Given the description of an element on the screen output the (x, y) to click on. 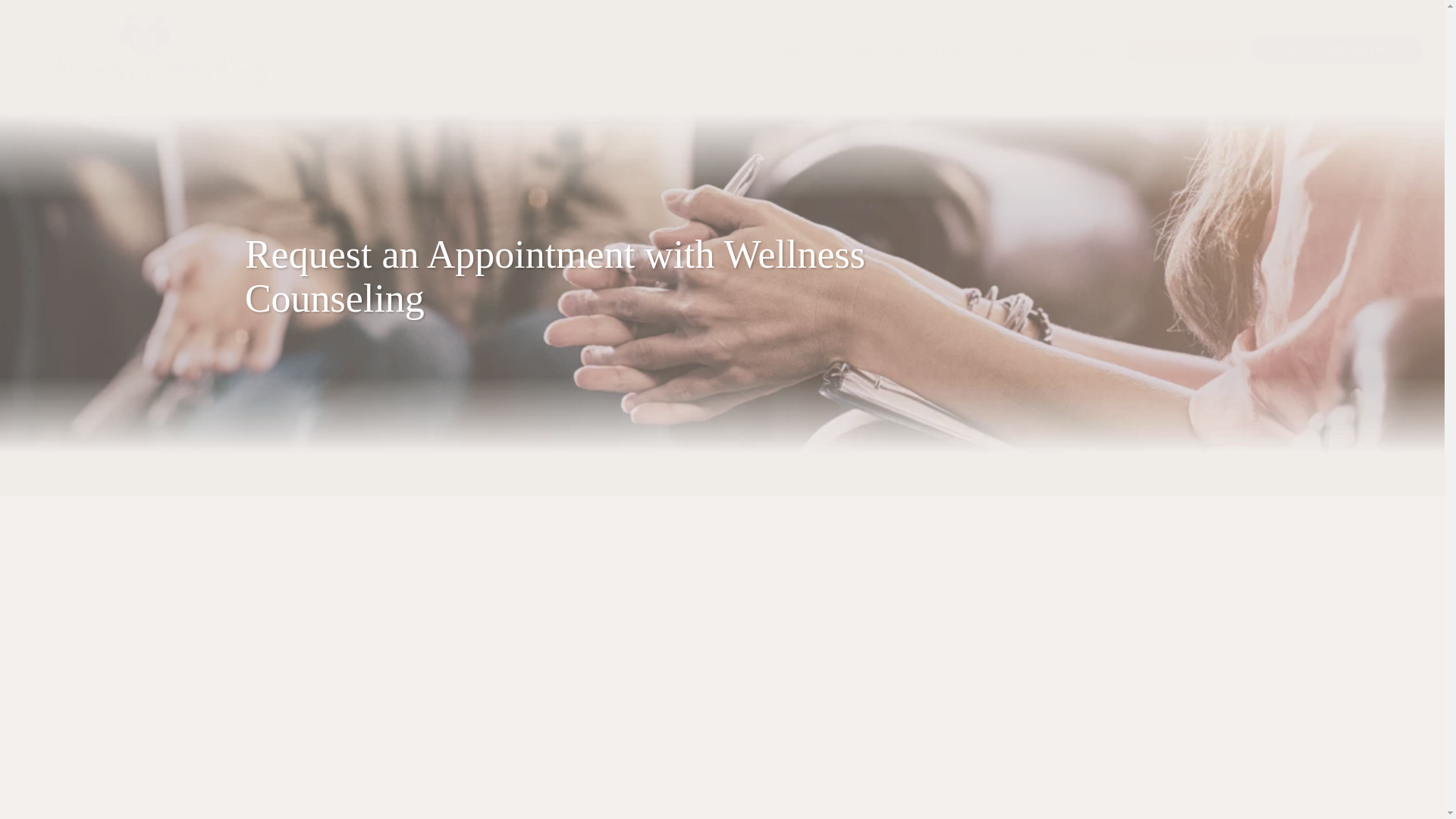
Request Appointment Form (722, 595)
ABOUT (803, 50)
PATIENT CENTER (1182, 50)
BLOG (1010, 50)
SERVICES (879, 50)
TEAM (950, 50)
CONTACT (1081, 50)
